Given the description of an element on the screen output the (x, y) to click on. 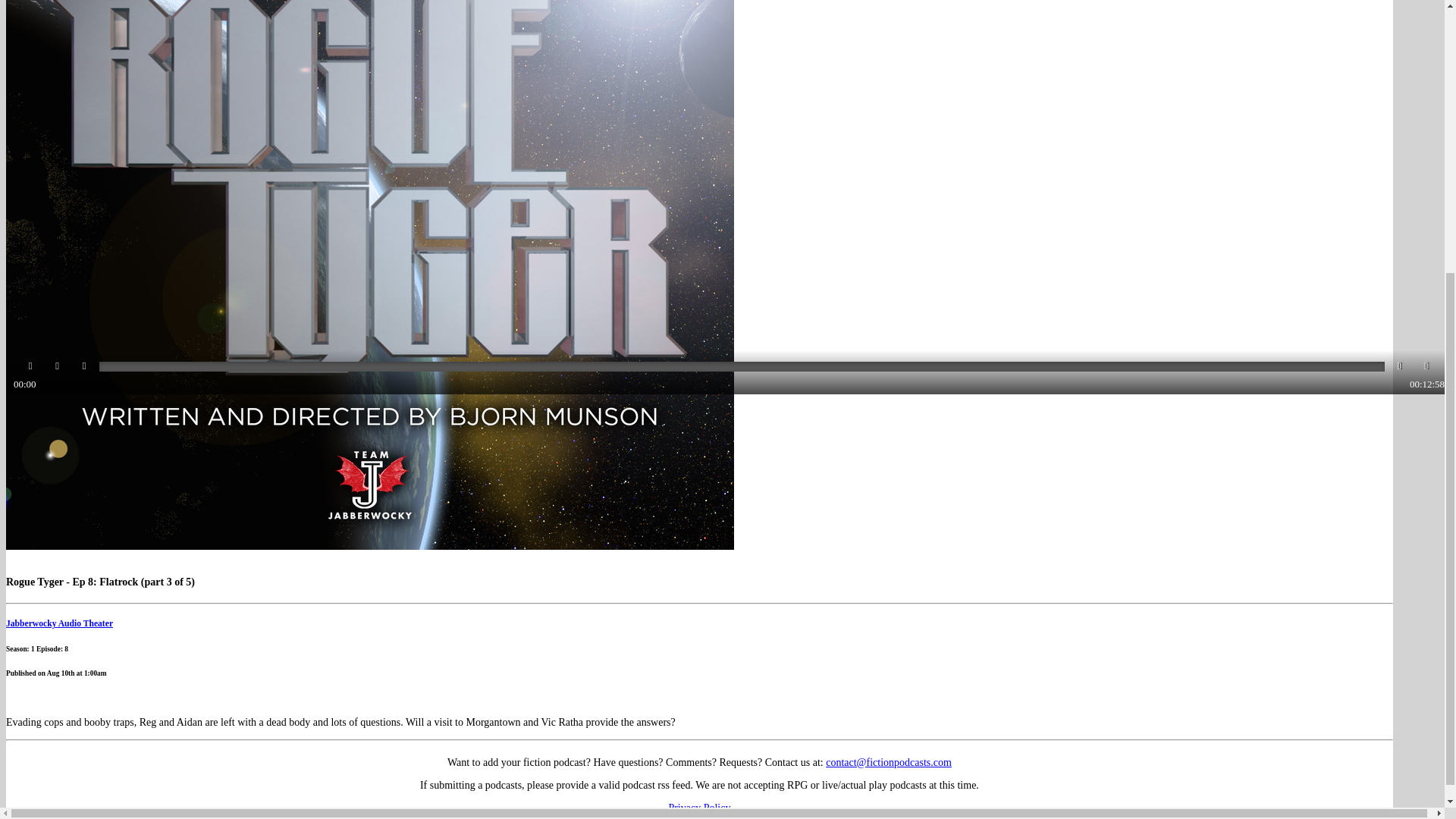
Rewind (57, 365)
Forward 10 Seconds (1398, 365)
Back 10 Seconds (83, 365)
Jabberwocky Audio Theater (59, 623)
Privacy Policy (699, 808)
Play (29, 365)
